Given the description of an element on the screen output the (x, y) to click on. 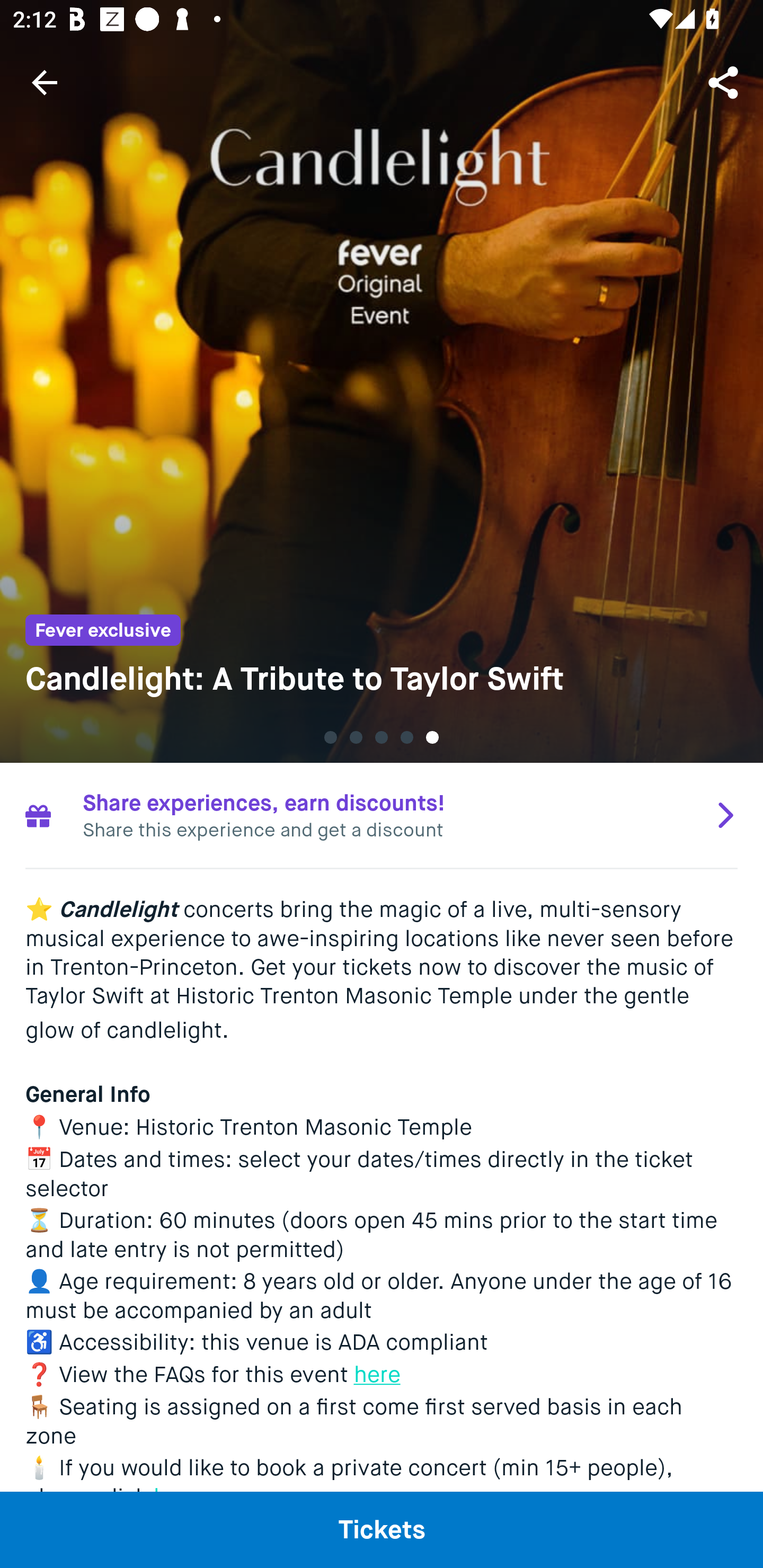
Navigate up (44, 82)
Share (724, 81)
Tickets (381, 1529)
